Given the description of an element on the screen output the (x, y) to click on. 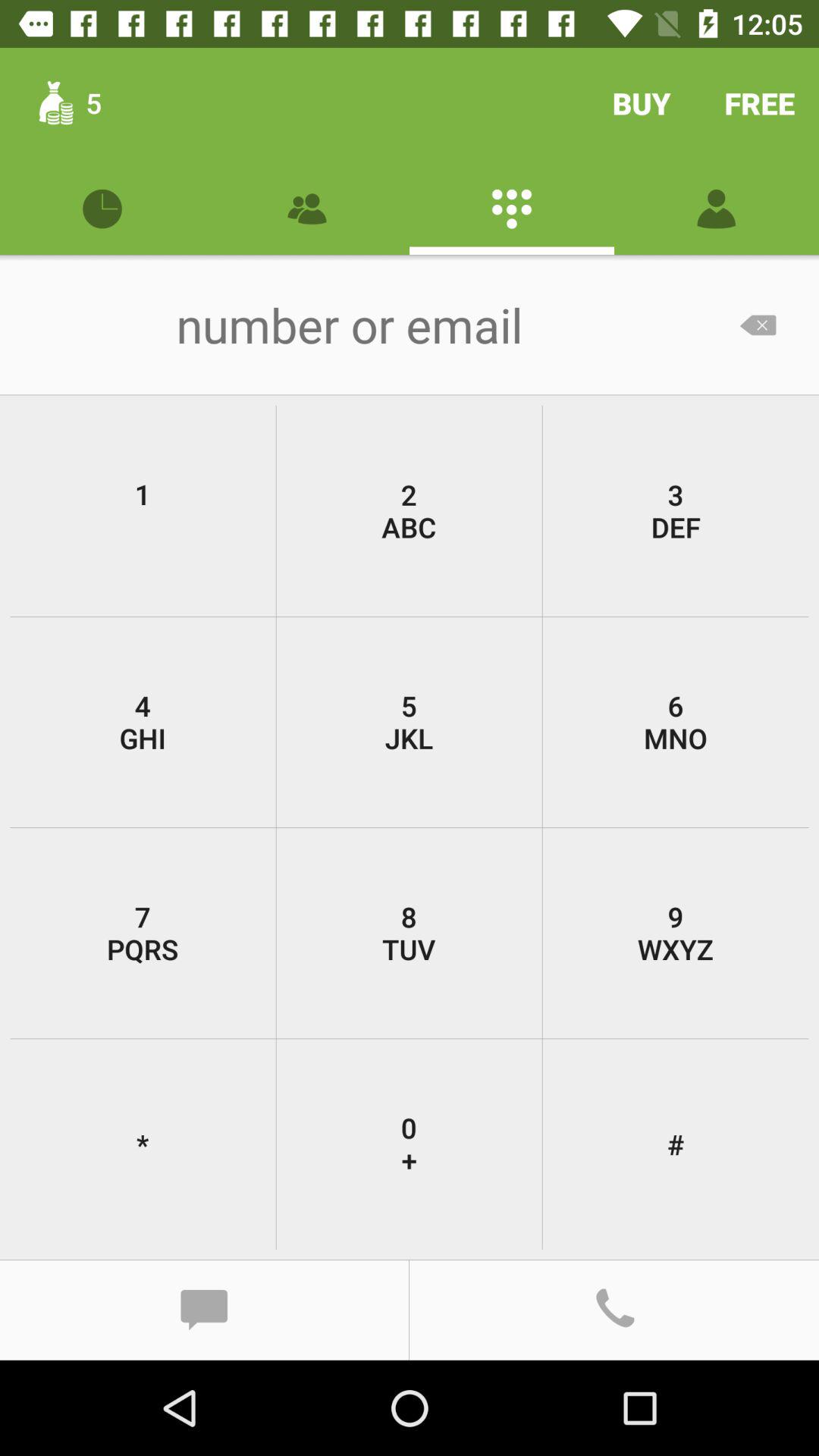
select the icon next to 1
 icon (409, 510)
